Given the description of an element on the screen output the (x, y) to click on. 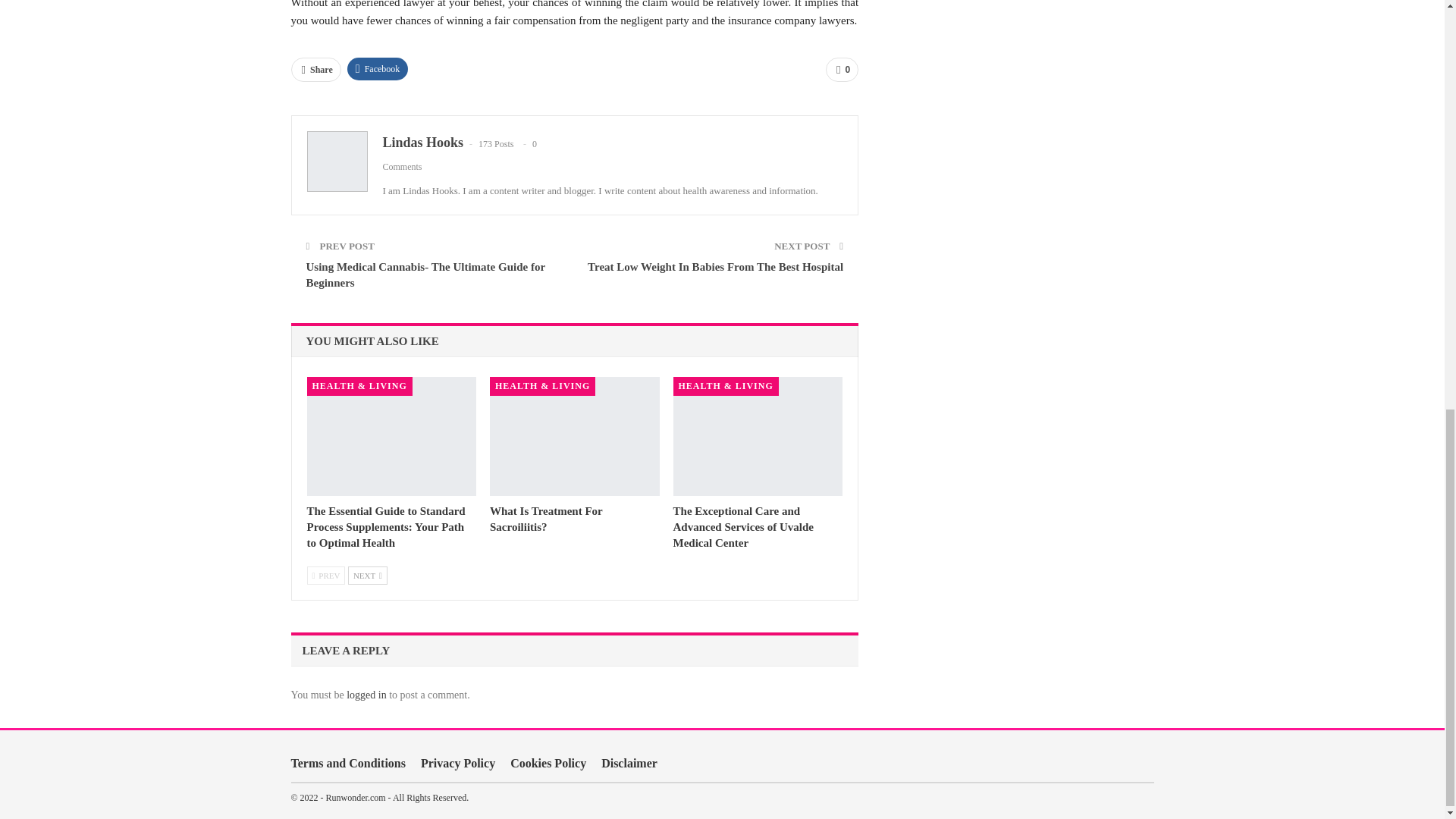
What Is Treatment For Sacroiliitis? (545, 519)
0 (842, 69)
Lindas Hooks (422, 142)
YOU MIGHT ALSO LIKE (372, 340)
What Is Treatment For Sacroiliitis? (545, 519)
